Given the description of an element on the screen output the (x, y) to click on. 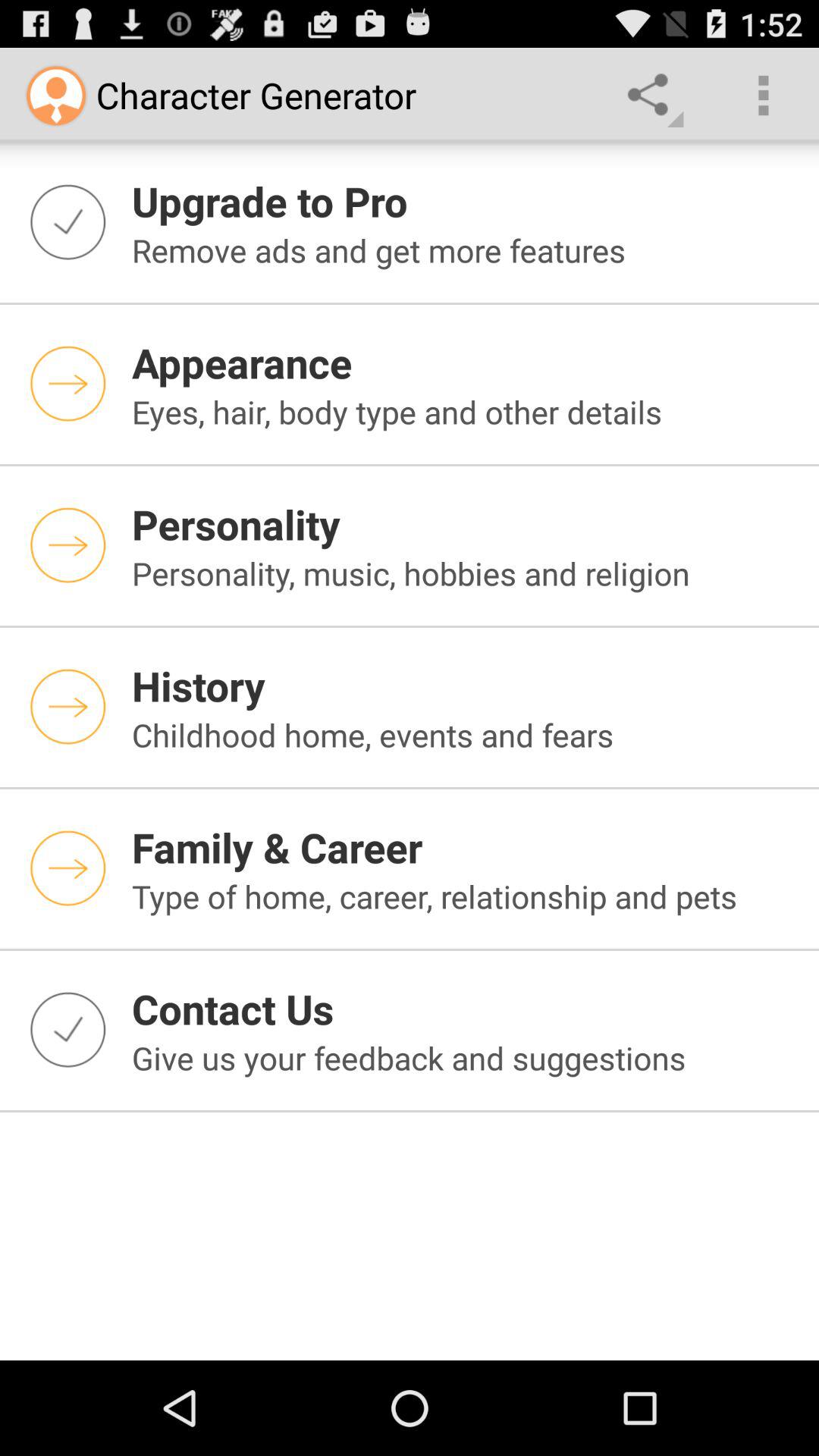
launch the app above history (465, 572)
